Given the description of an element on the screen output the (x, y) to click on. 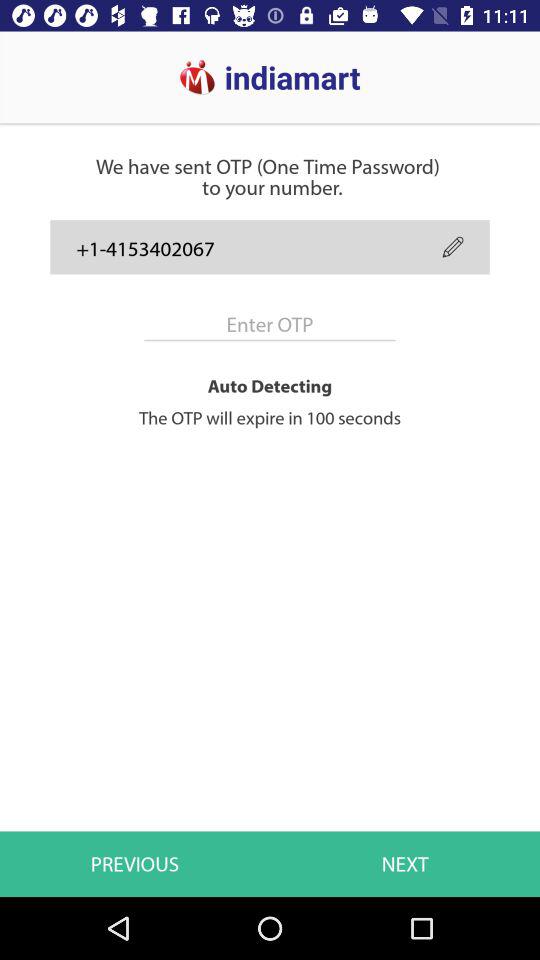
select the icon below the we have sent (452, 246)
